Given the description of an element on the screen output the (x, y) to click on. 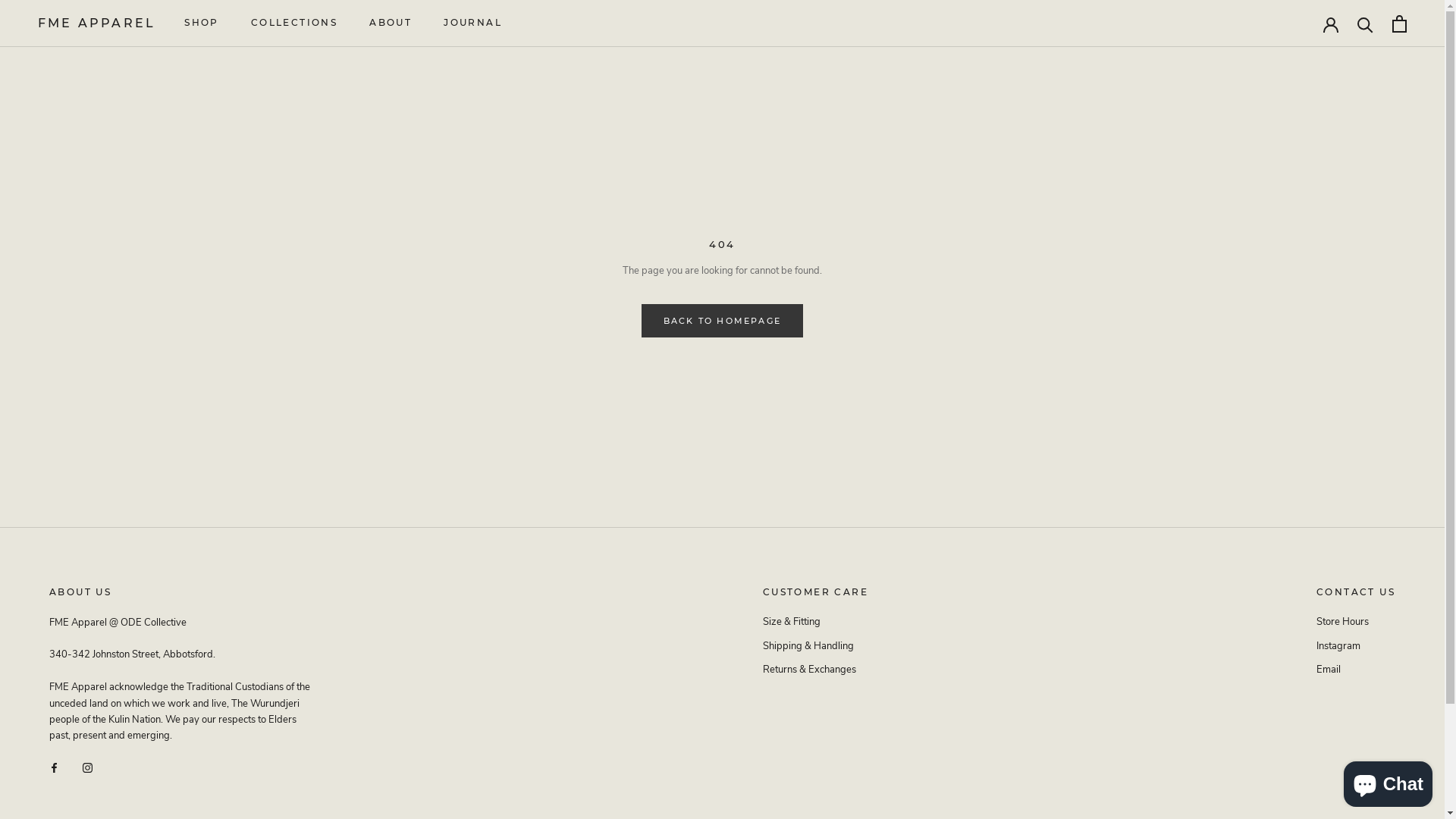
Returns & Exchanges Element type: text (815, 669)
SHOP Element type: text (201, 22)
Email Element type: text (1355, 669)
FME APPAREL Element type: text (96, 23)
Instagram Element type: text (1355, 646)
Store Hours Element type: text (1355, 622)
JOURNAL
JOURNAL Element type: text (472, 22)
COLLECTIONS
COLLECTIONS Element type: text (294, 22)
Shipping & Handling Element type: text (815, 646)
BACK TO HOMEPAGE Element type: text (722, 320)
Shopify online store chat Element type: hover (1388, 780)
Size & Fitting Element type: text (815, 622)
ABOUT
ABOUT Element type: text (390, 22)
